Given the description of an element on the screen output the (x, y) to click on. 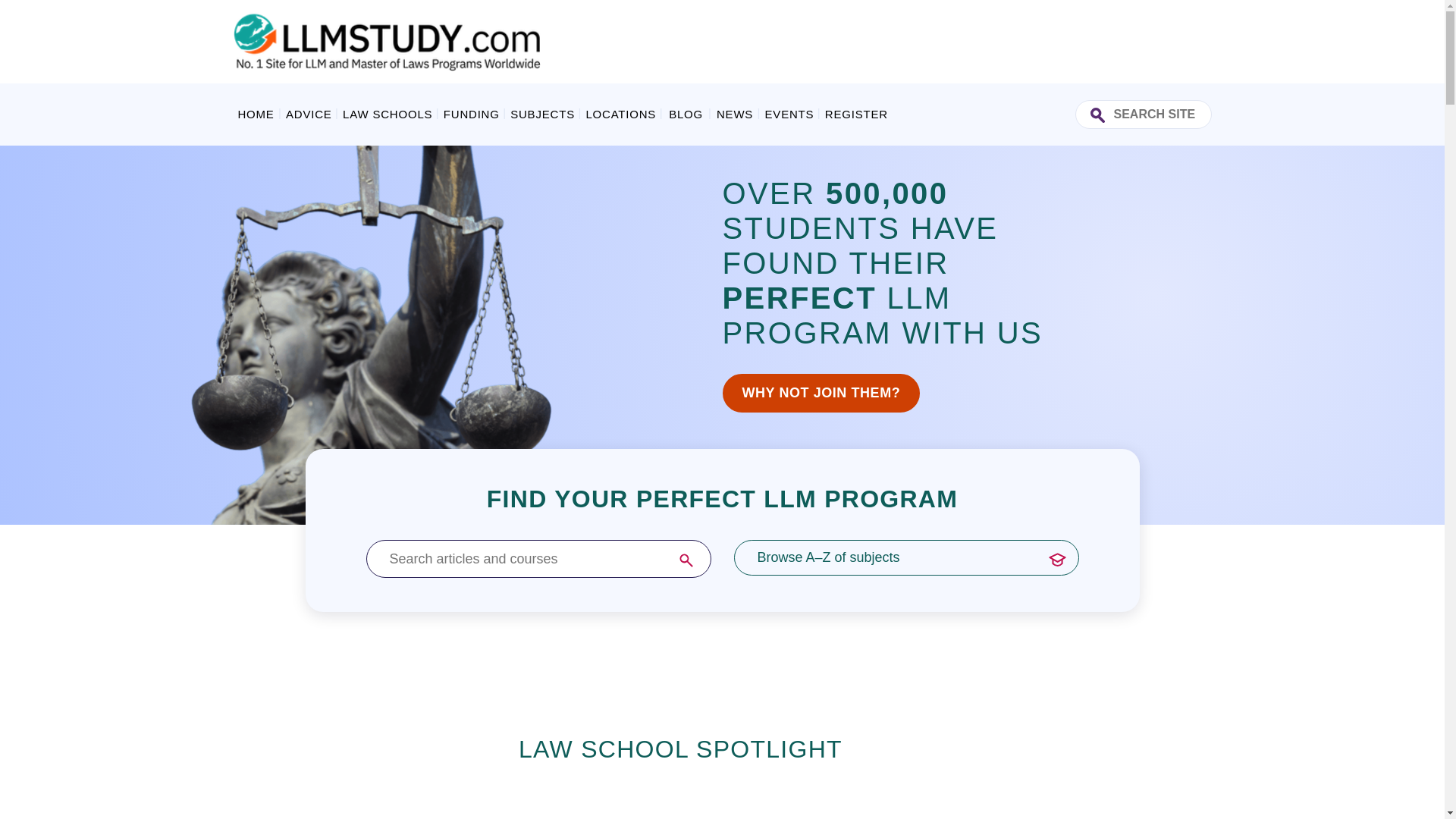
LAW SCHOOLS (387, 113)
SUBJECTS (542, 113)
Search Site: (1143, 113)
FUNDING (471, 113)
